Given the description of an element on the screen output the (x, y) to click on. 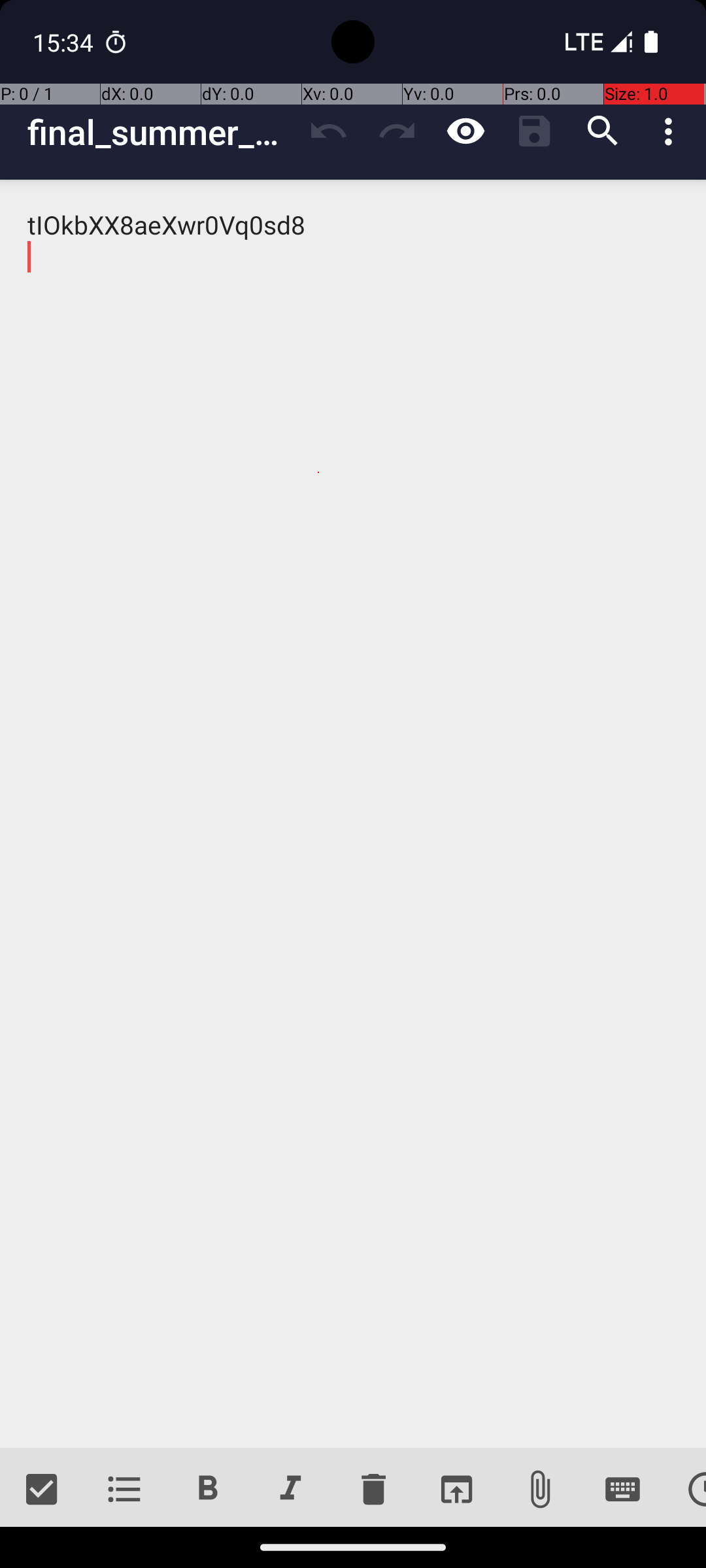
final_summer_vacation_plans Element type: android.widget.TextView (160, 131)
tIOkbXX8aeXwr0Vq0sd8
 Element type: android.widget.EditText (353, 813)
